Given the description of an element on the screen output the (x, y) to click on. 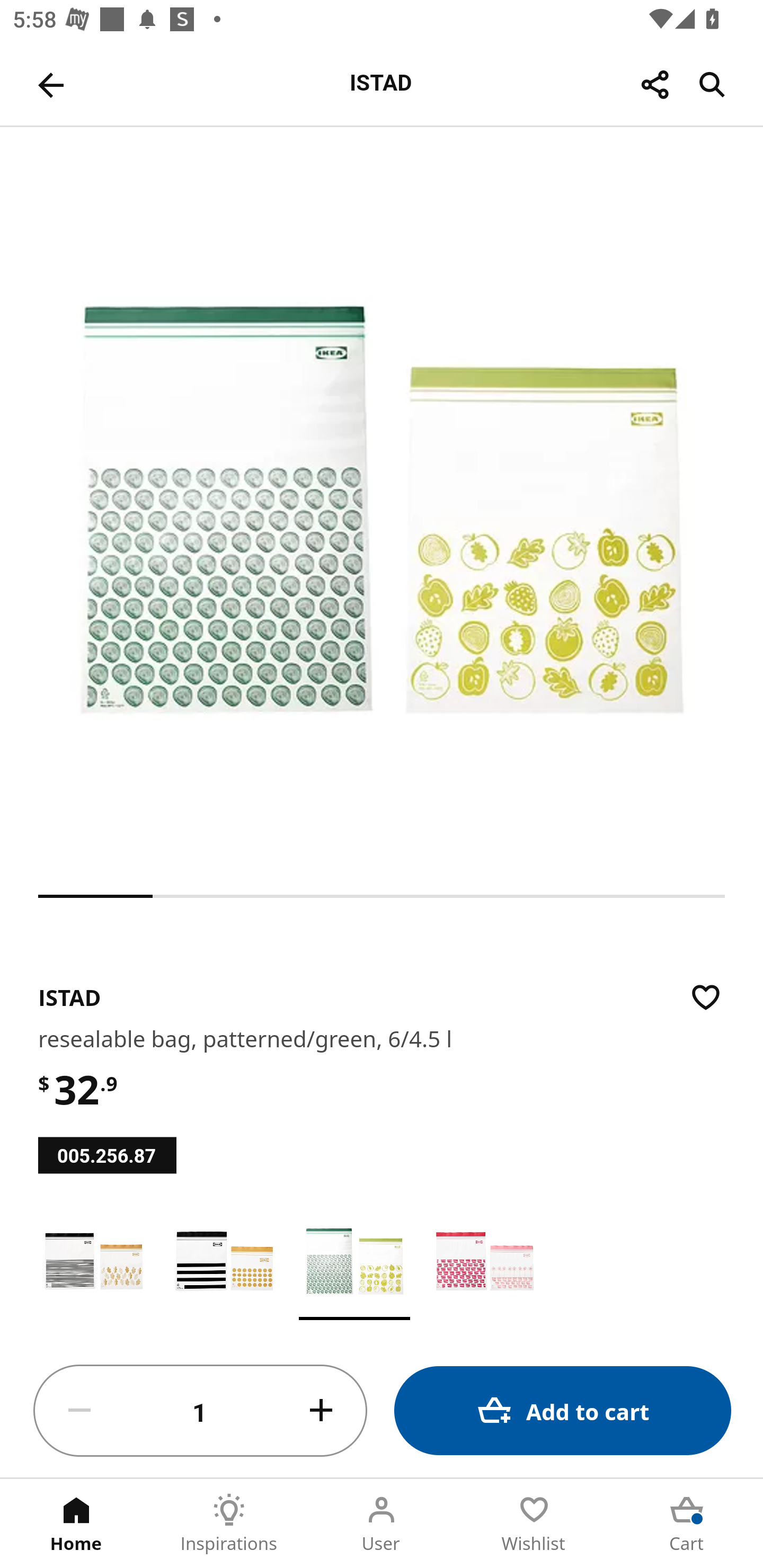
Add to cart (562, 1410)
1 (200, 1411)
Home
Tab 1 of 5 (76, 1522)
Inspirations
Tab 2 of 5 (228, 1522)
User
Tab 3 of 5 (381, 1522)
Wishlist
Tab 4 of 5 (533, 1522)
Cart
Tab 5 of 5 (686, 1522)
